Given the description of an element on the screen output the (x, y) to click on. 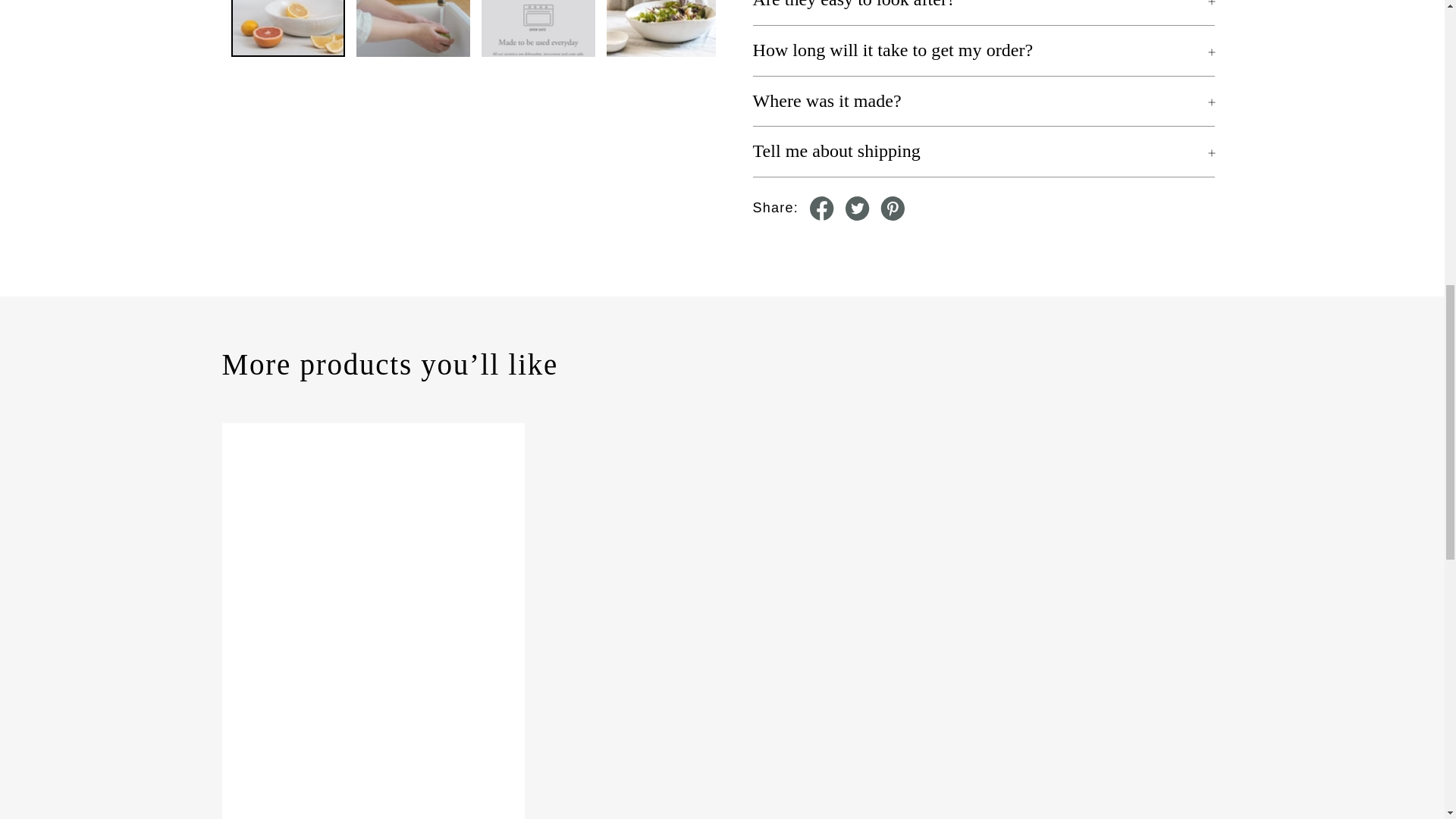
Pin on Pinterest (892, 208)
Share on Facebook (821, 208)
Tweet on Twitter (856, 208)
